Given the description of an element on the screen output the (x, y) to click on. 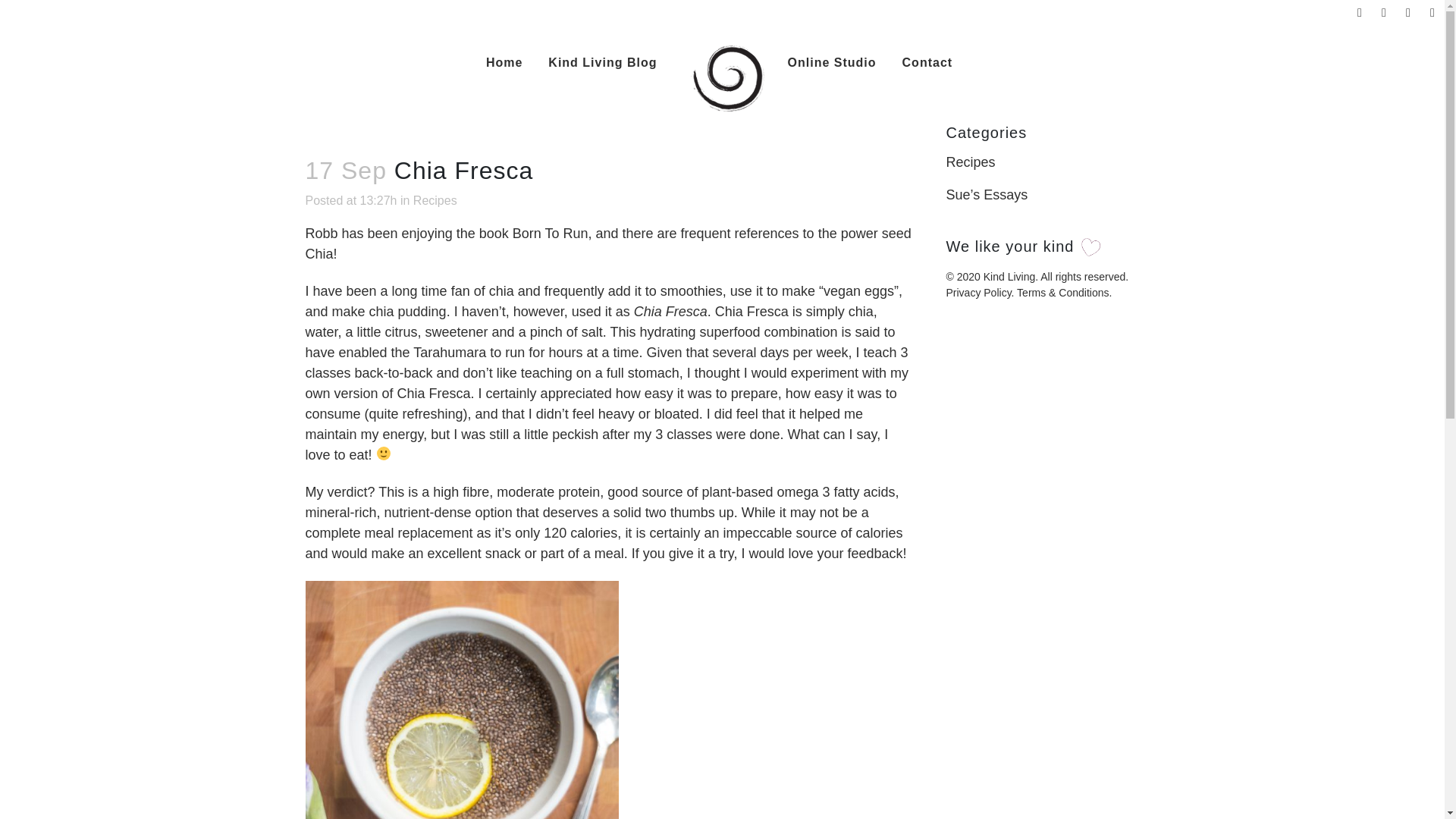
Recipes (435, 200)
Online Studio (831, 62)
Kind Living Blog (602, 62)
Contact (927, 62)
Recipes (970, 161)
